Given the description of an element on the screen output the (x, y) to click on. 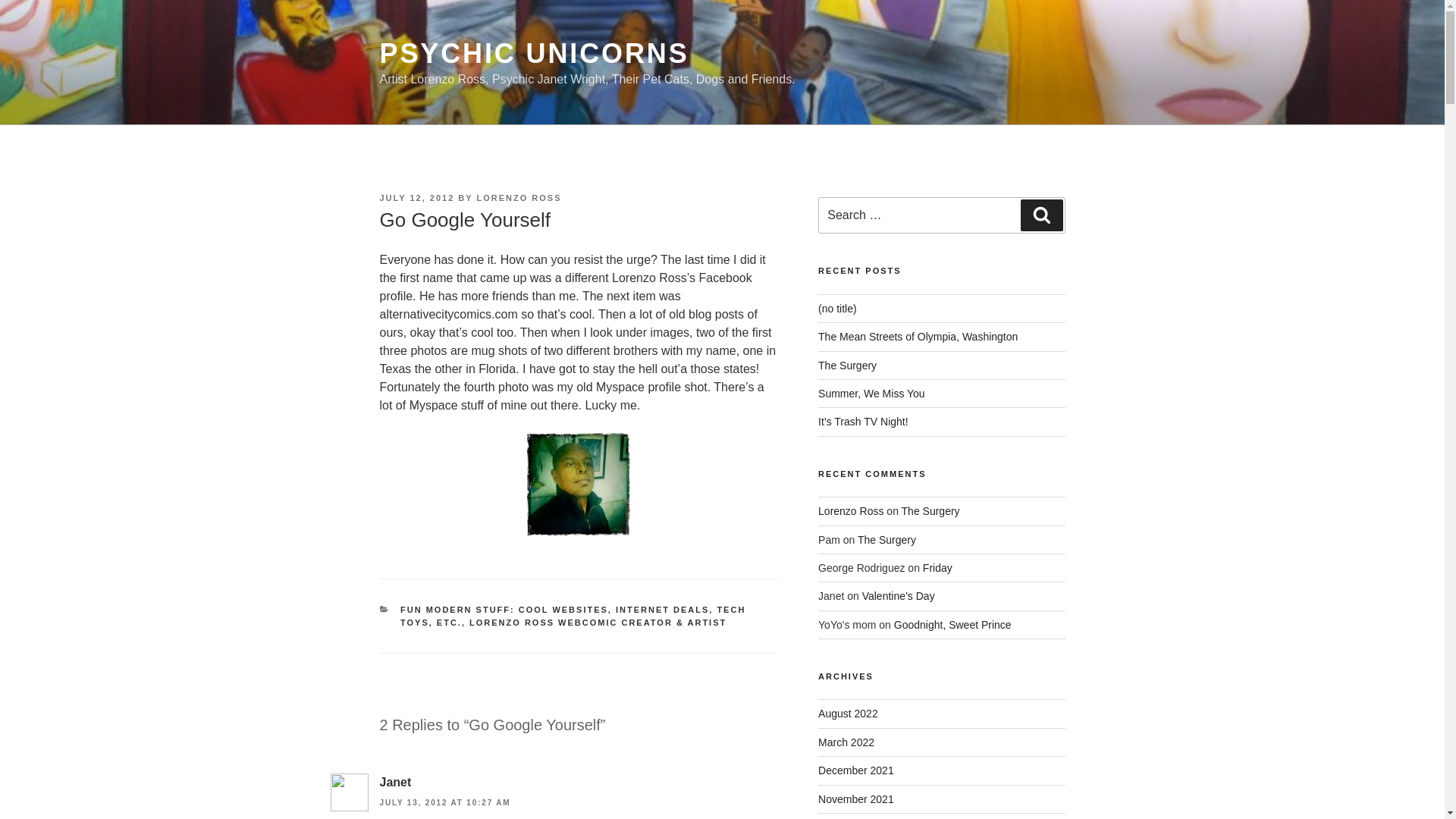
November 2021 (855, 799)
December 2021 (855, 770)
The Surgery (847, 365)
March 2022 (846, 742)
Search (1041, 214)
JULY 13, 2012 AT 10:27 AM (444, 802)
The Surgery (886, 539)
JULY 12, 2012 (416, 197)
LORENZO ROSS (518, 197)
